Given the description of an element on the screen output the (x, y) to click on. 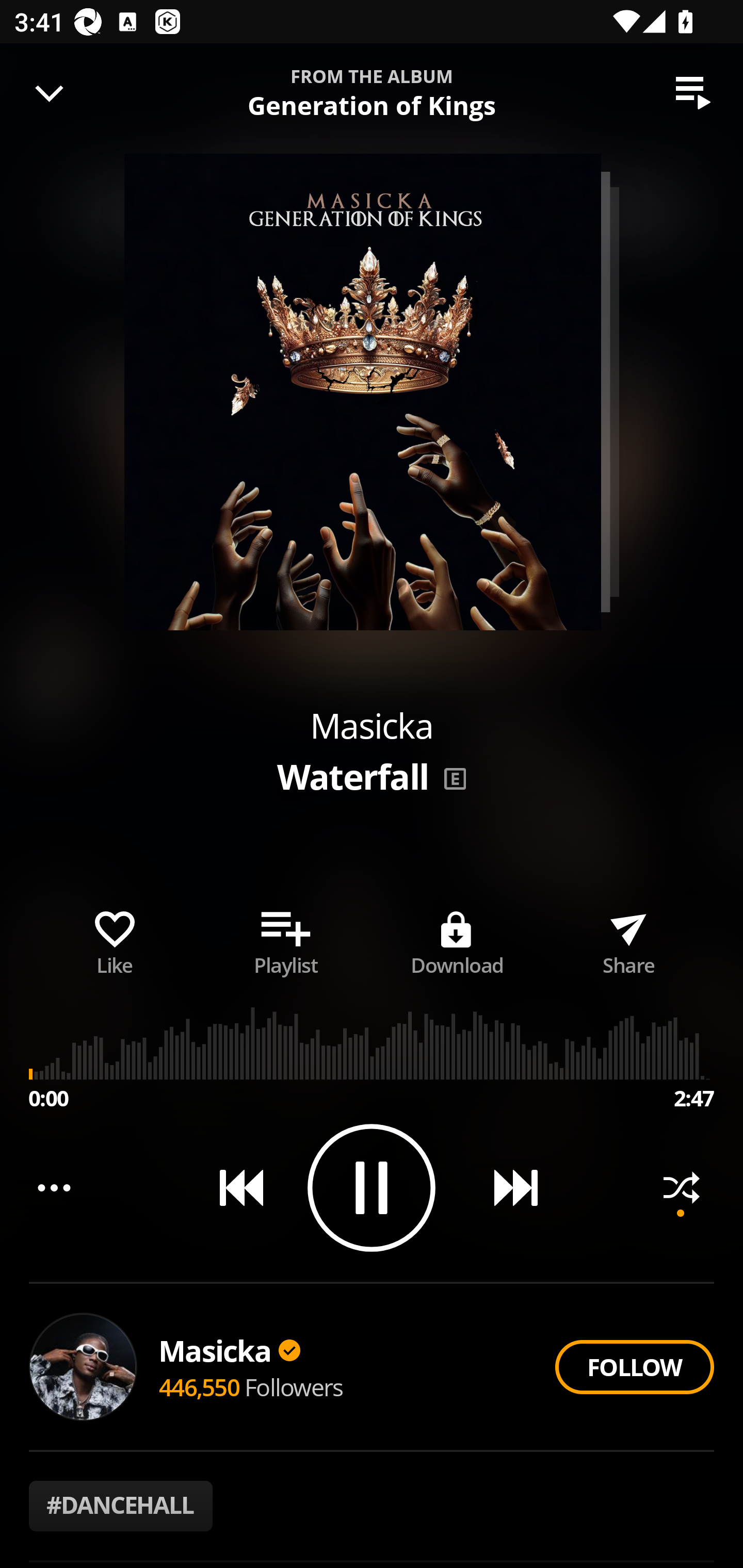
Close (46, 89)
Love Story Cancel (371, 82)
Queue (693, 93)
Album art (362, 391)
Masicka (371, 724)
Like (113, 939)
Add song to playlist Playlist (285, 939)
Download (457, 939)
Share (628, 939)
Play/Pause (371, 1187)
Previous song (233, 1187)
Next song (508, 1187)
Masicka (229, 1350)
FOLLOW Follow (634, 1366)
446,550 (199, 1386)
#DANCEHALL (120, 1505)
